Given the description of an element on the screen output the (x, y) to click on. 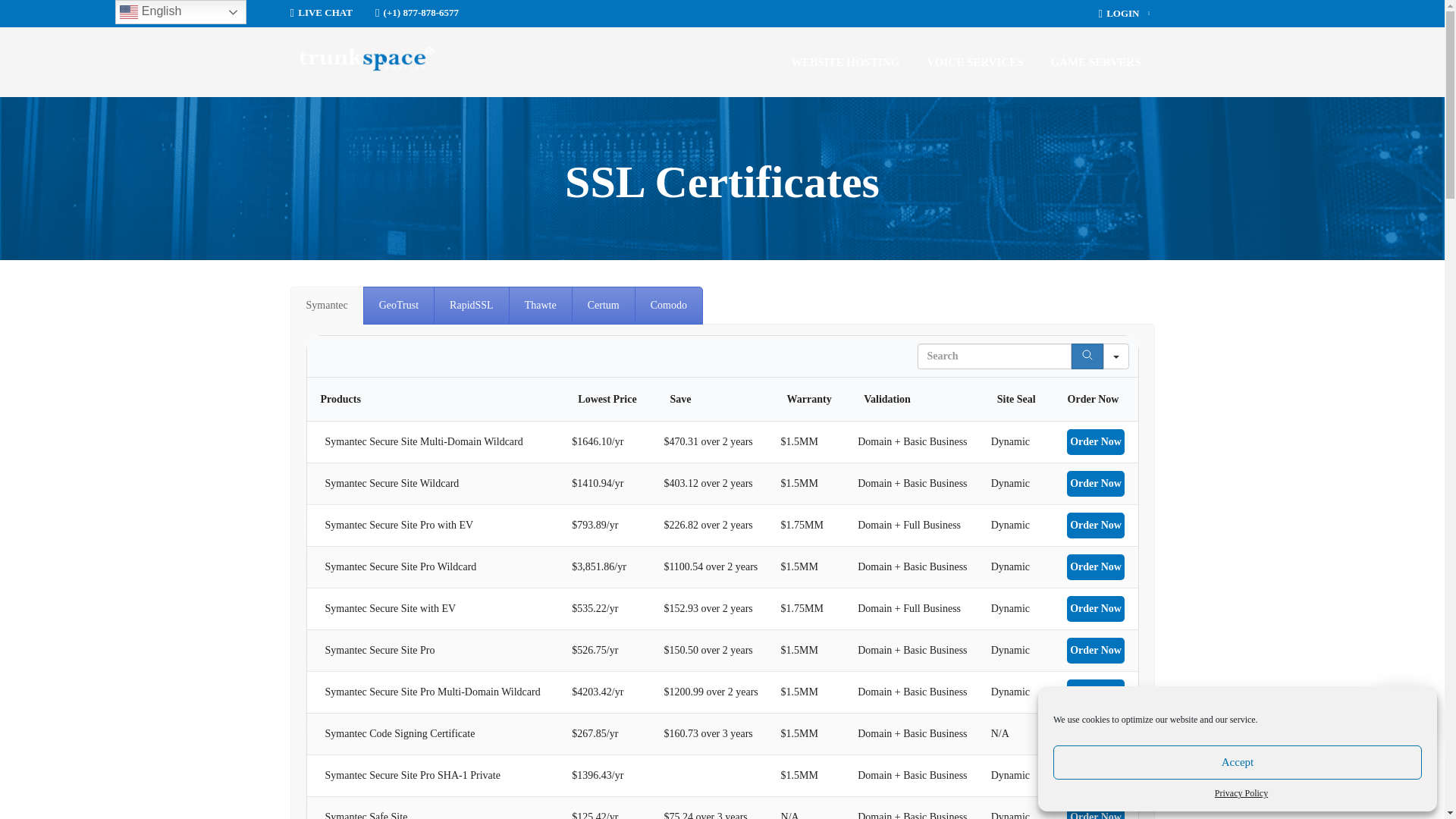
Certum (603, 305)
Comodo (668, 305)
Search in (1115, 356)
LIVE CHAT (320, 12)
VOICE SERVICES (974, 62)
Search (1086, 356)
GeoTrust (397, 305)
Accept (1237, 762)
Privacy Policy (1241, 793)
GAME SERVERS (1095, 62)
LOGIN (1125, 13)
Symantec (325, 305)
RapidSSL (471, 305)
Thawte (540, 305)
WEBSITE HOSTING (851, 62)
